Given the description of an element on the screen output the (x, y) to click on. 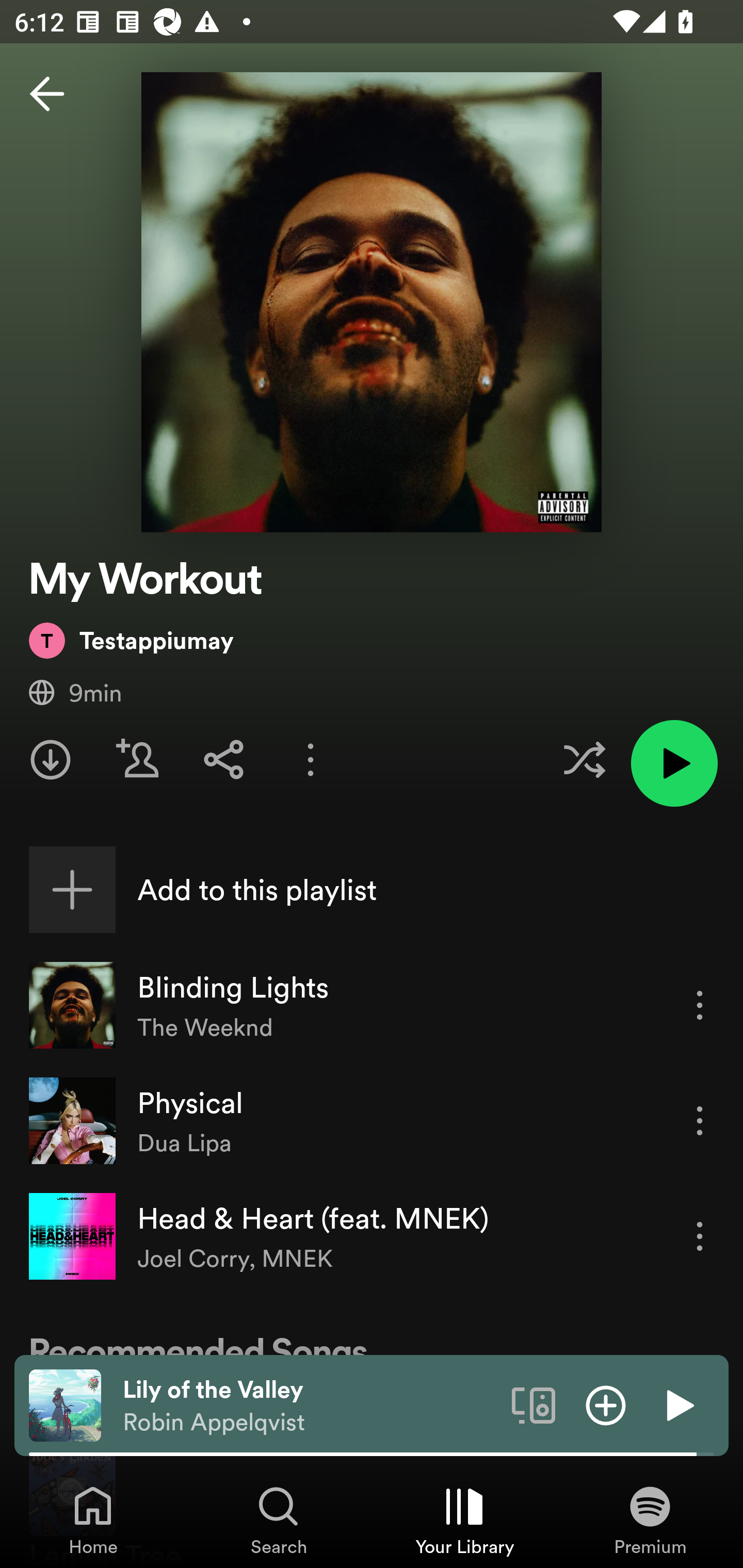
Back (46, 93)
Testappiumay (131, 640)
Download (50, 759)
Invite Friends for playlist (136, 759)
More options for playlist My Workout (310, 759)
Enable shuffle for this playlist (583, 759)
Play playlist (674, 763)
Add to this playlist (371, 889)
More options for song Blinding Lights (699, 1004)
Physical Dua Lipa More options for song Physical (371, 1121)
More options for song Physical (699, 1120)
More options for song Head & Heart (feat. MNEK) (699, 1236)
Lily of the Valley Robin Appelqvist (309, 1405)
The cover art of the currently playing track (64, 1404)
Connect to a device. Opens the devices menu (533, 1404)
Add item (605, 1404)
Play (677, 1404)
Home, Tab 1 of 4 Home Home (92, 1519)
Search, Tab 2 of 4 Search Search (278, 1519)
Your Library, Tab 3 of 4 Your Library Your Library (464, 1519)
Premium, Tab 4 of 4 Premium Premium (650, 1519)
